Given the description of an element on the screen output the (x, y) to click on. 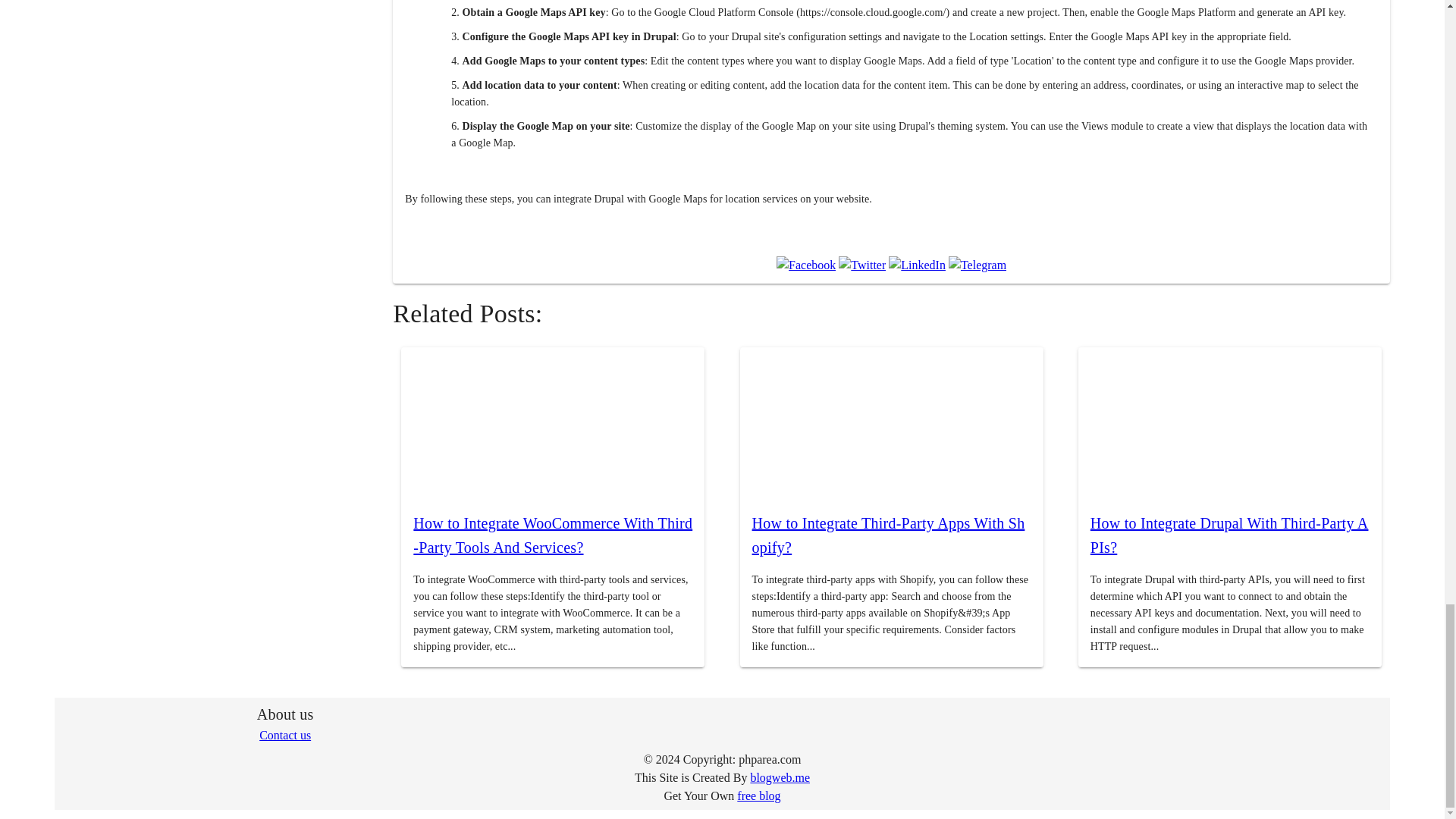
Telegram (977, 265)
Facebook (805, 265)
Twitter (861, 265)
LinkedIn (916, 265)
